Given the description of an element on the screen output the (x, y) to click on. 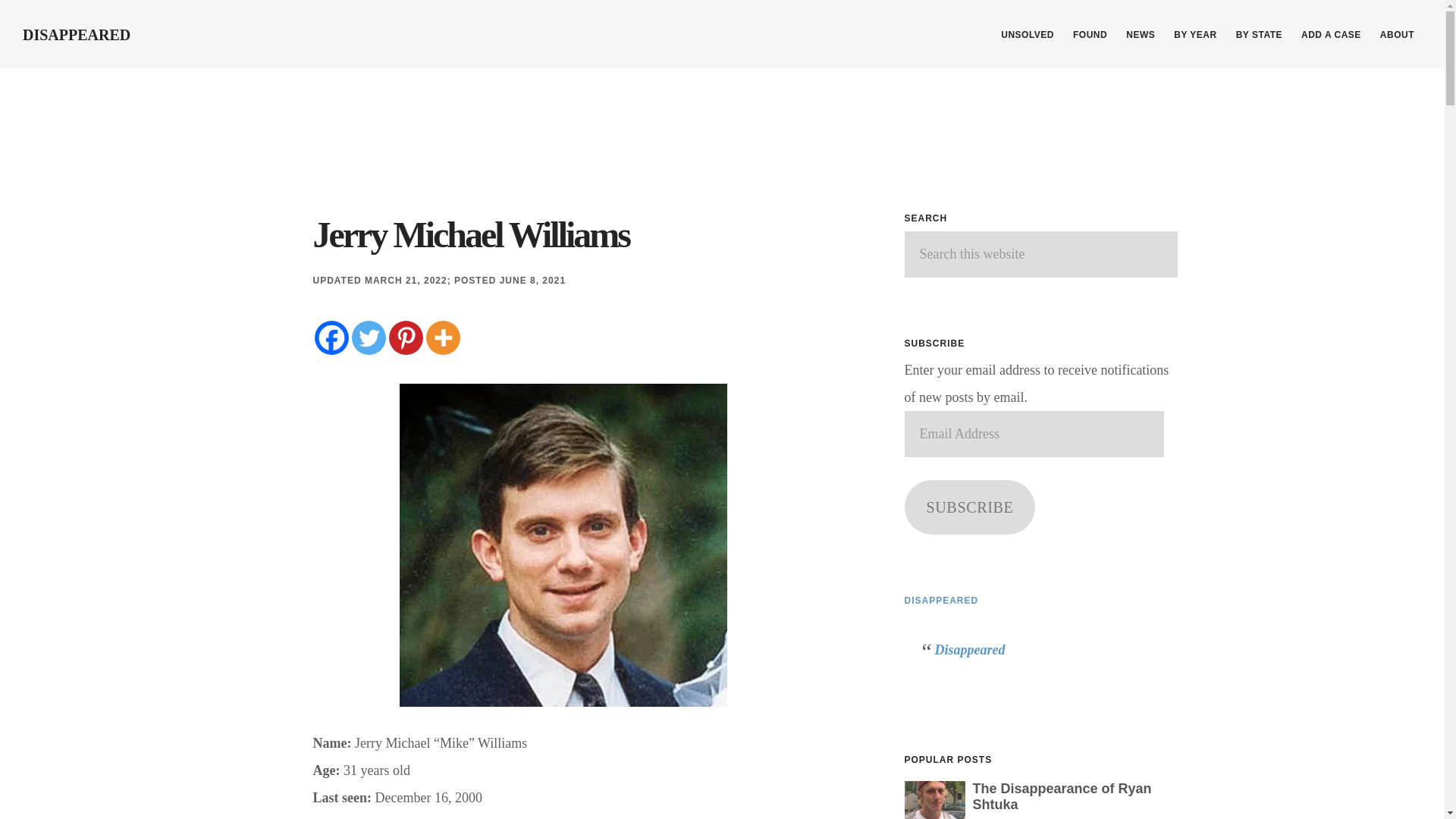
Twitter (368, 337)
Facebook (330, 337)
NEWS (1139, 34)
ADD A CASE (1331, 34)
Pinterest (405, 337)
DISAPPEARED (77, 34)
BY STATE (1259, 34)
More (443, 337)
UNSOLVED (1026, 34)
BY YEAR (1195, 34)
ABOUT (1397, 34)
FOUND (1090, 34)
